Given the description of an element on the screen output the (x, y) to click on. 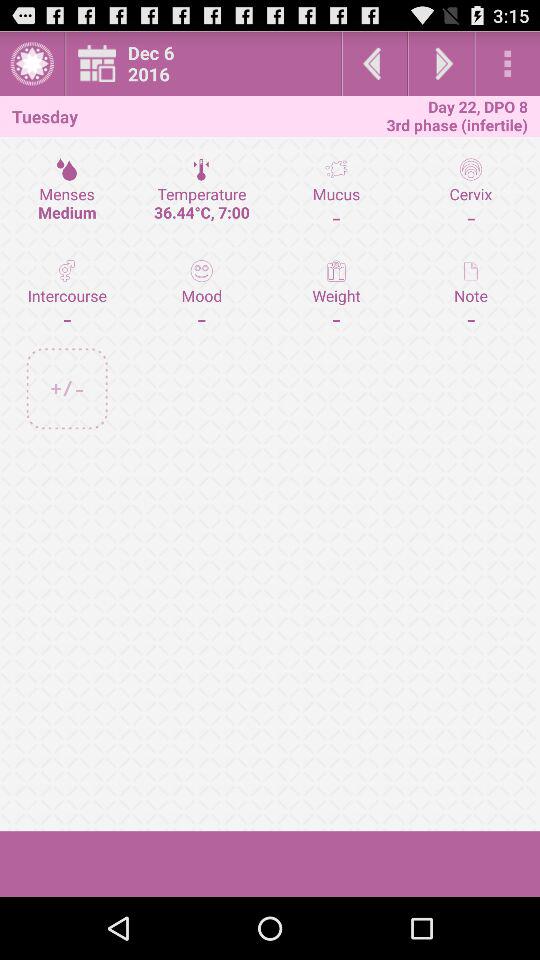
scroll until the temperature 36 44 item (201, 193)
